Given the description of an element on the screen output the (x, y) to click on. 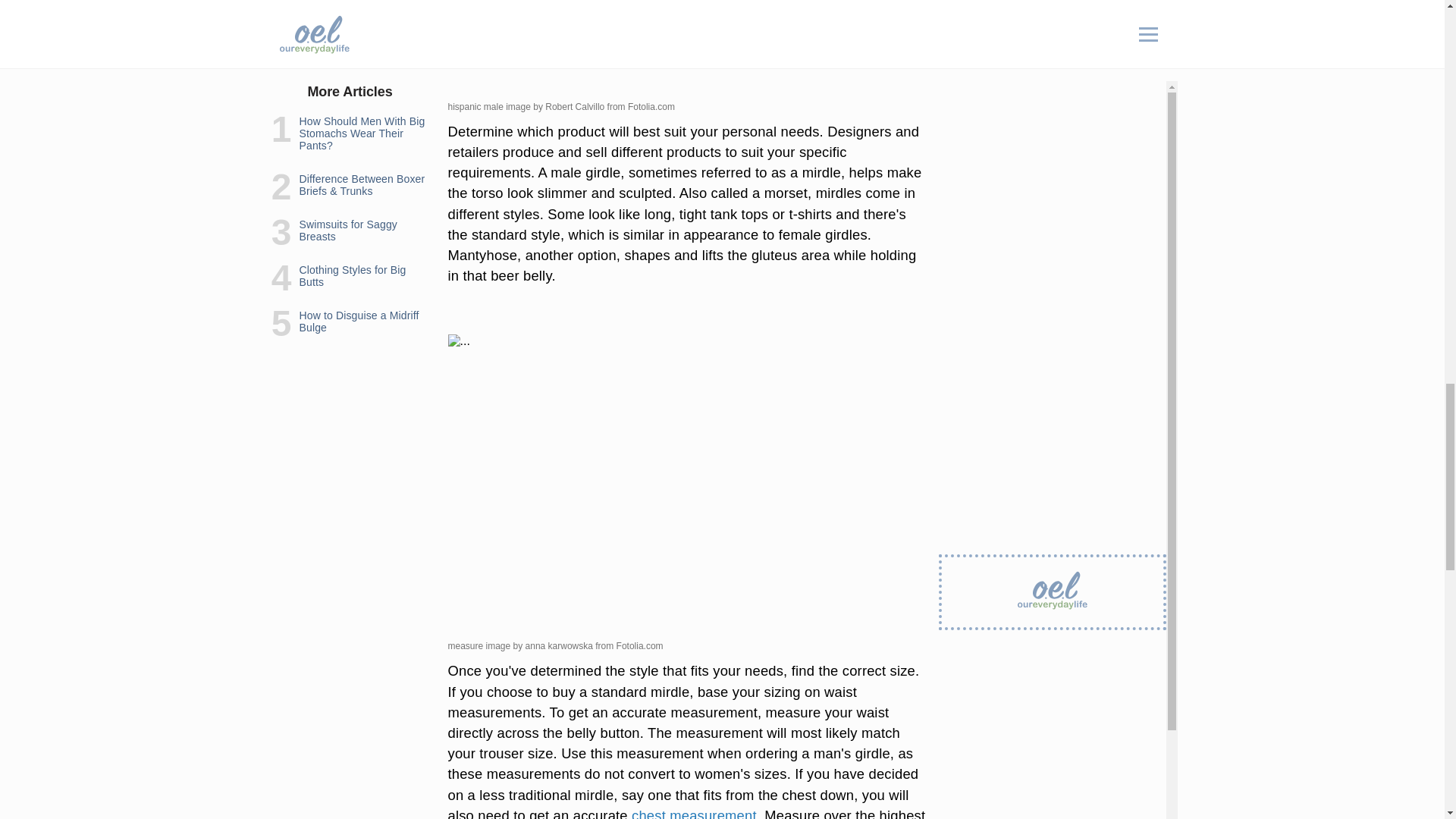
Fotolia.com (639, 645)
Fotolia.com (651, 106)
chest measurement (694, 813)
